Given the description of an element on the screen output the (x, y) to click on. 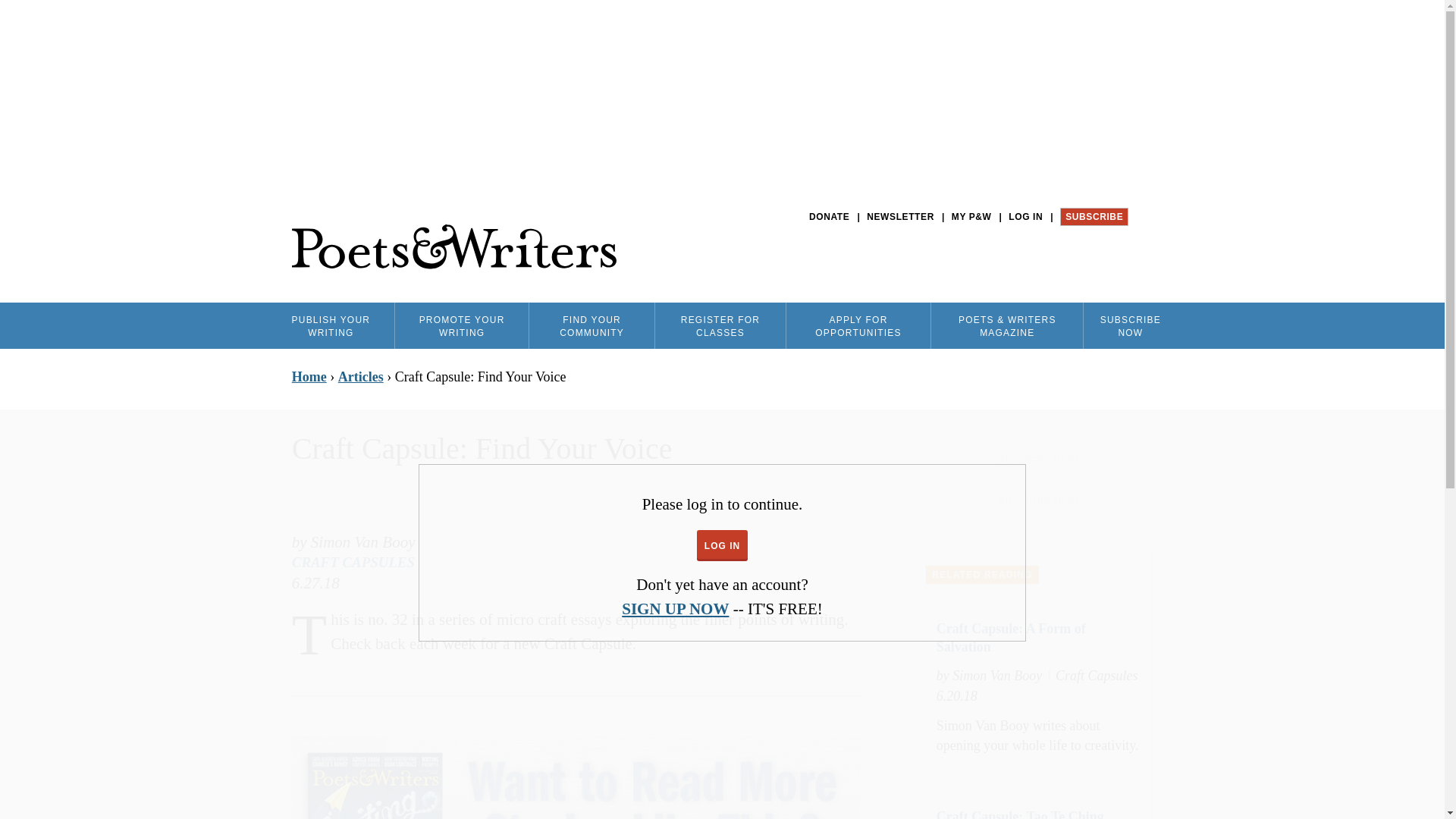
Home (453, 246)
PROMOTE YOUR WRITING (461, 325)
NEWSLETTER (900, 216)
SUBSCRIBE (1093, 217)
DONATE (828, 216)
LOG IN (1025, 216)
Publish Your Writing (330, 325)
PUBLISH YOUR WRITING (330, 325)
